Given the description of an element on the screen output the (x, y) to click on. 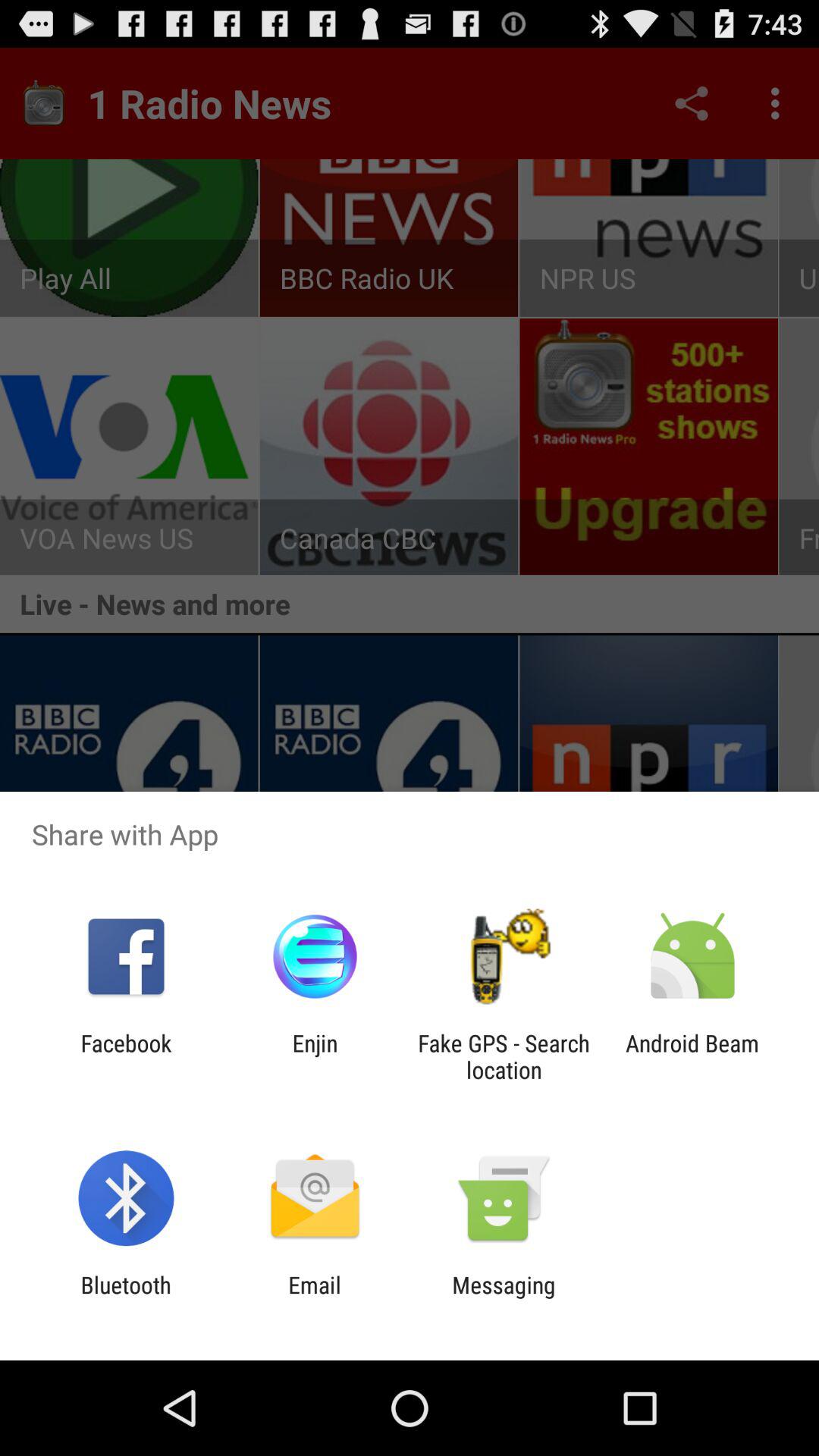
flip to bluetooth item (125, 1298)
